Given the description of an element on the screen output the (x, y) to click on. 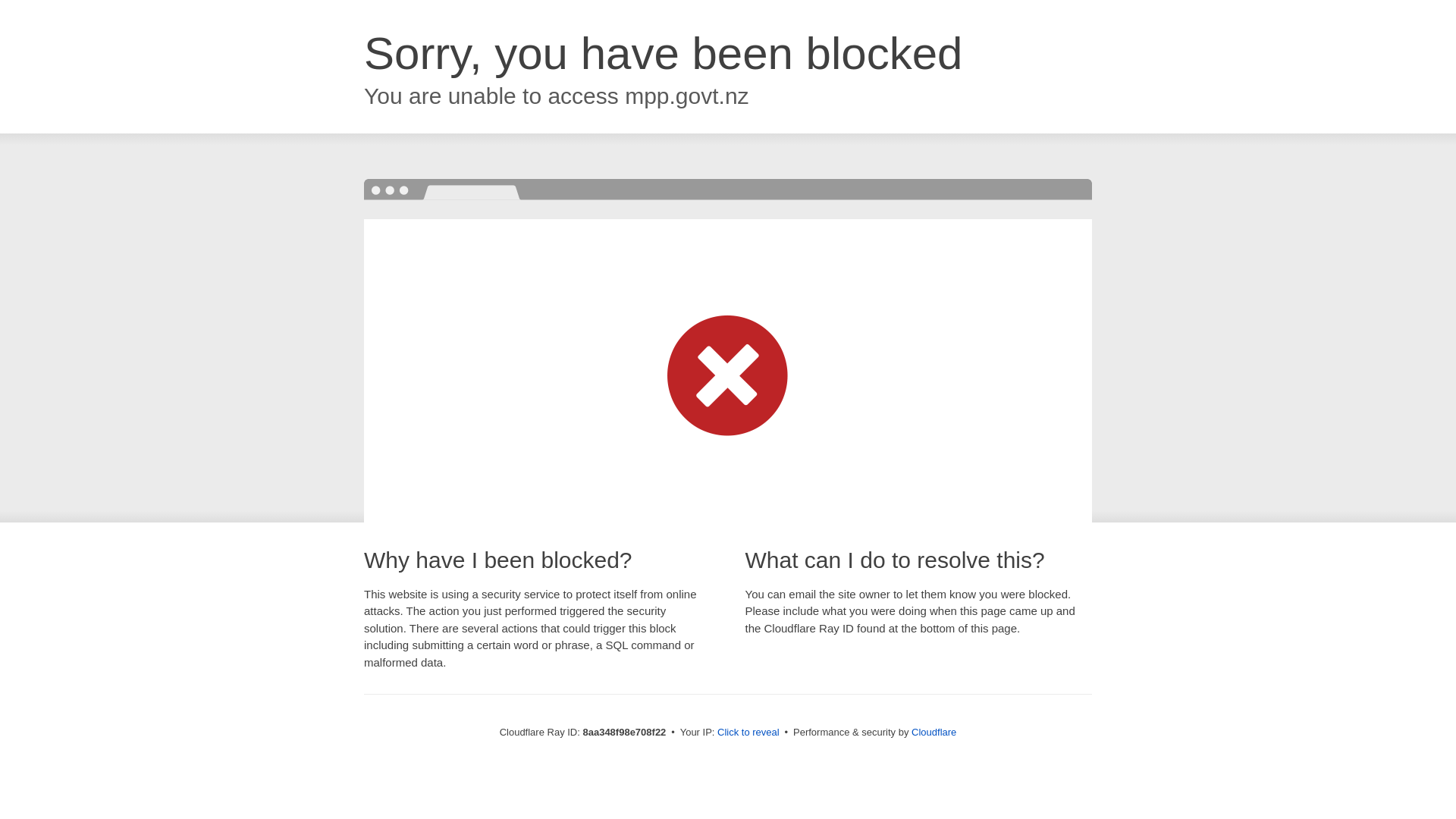
Cloudflare (933, 731)
Click to reveal (747, 732)
